Given the description of an element on the screen output the (x, y) to click on. 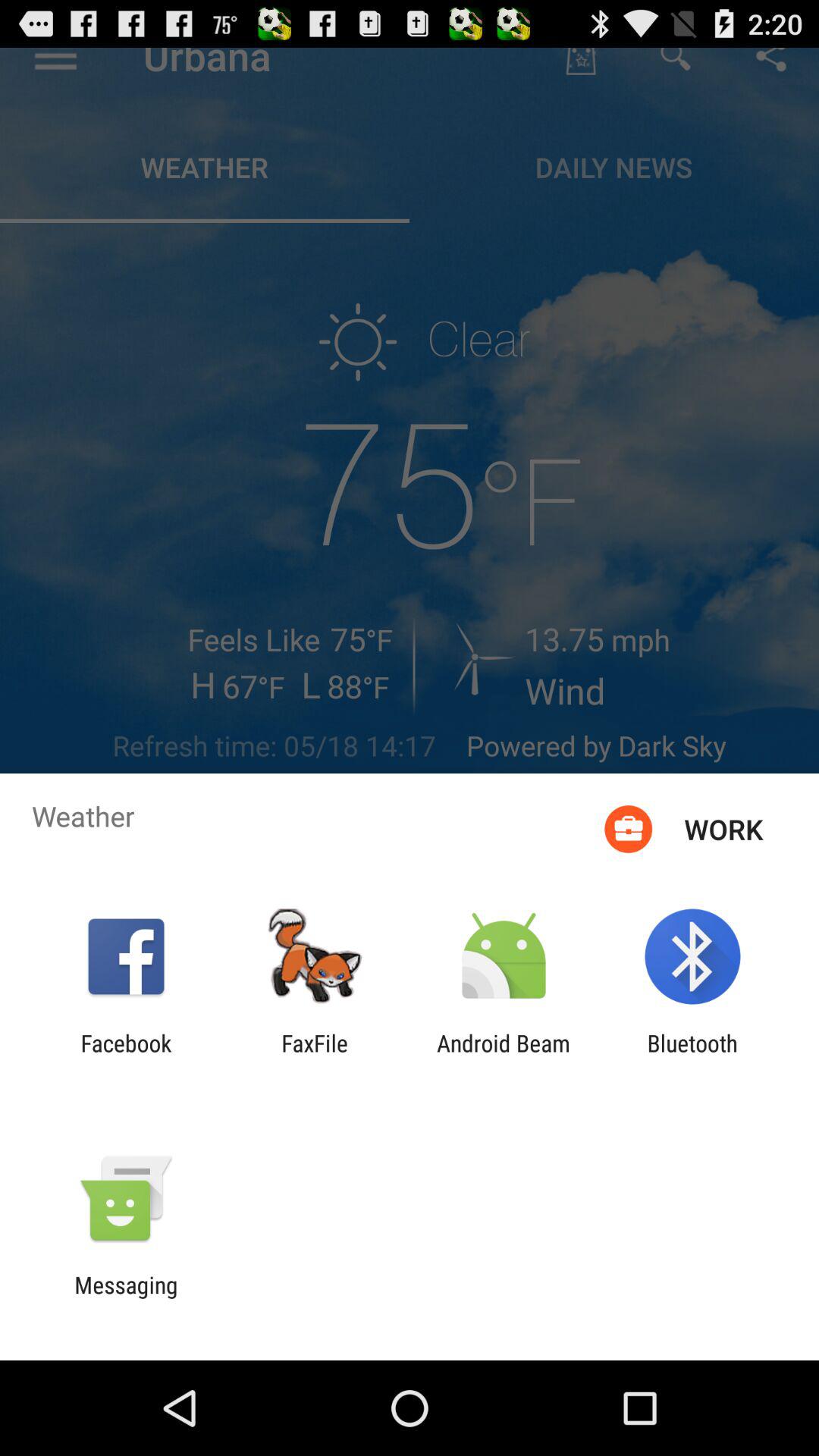
turn off item next to the faxfile (503, 1056)
